Given the description of an element on the screen output the (x, y) to click on. 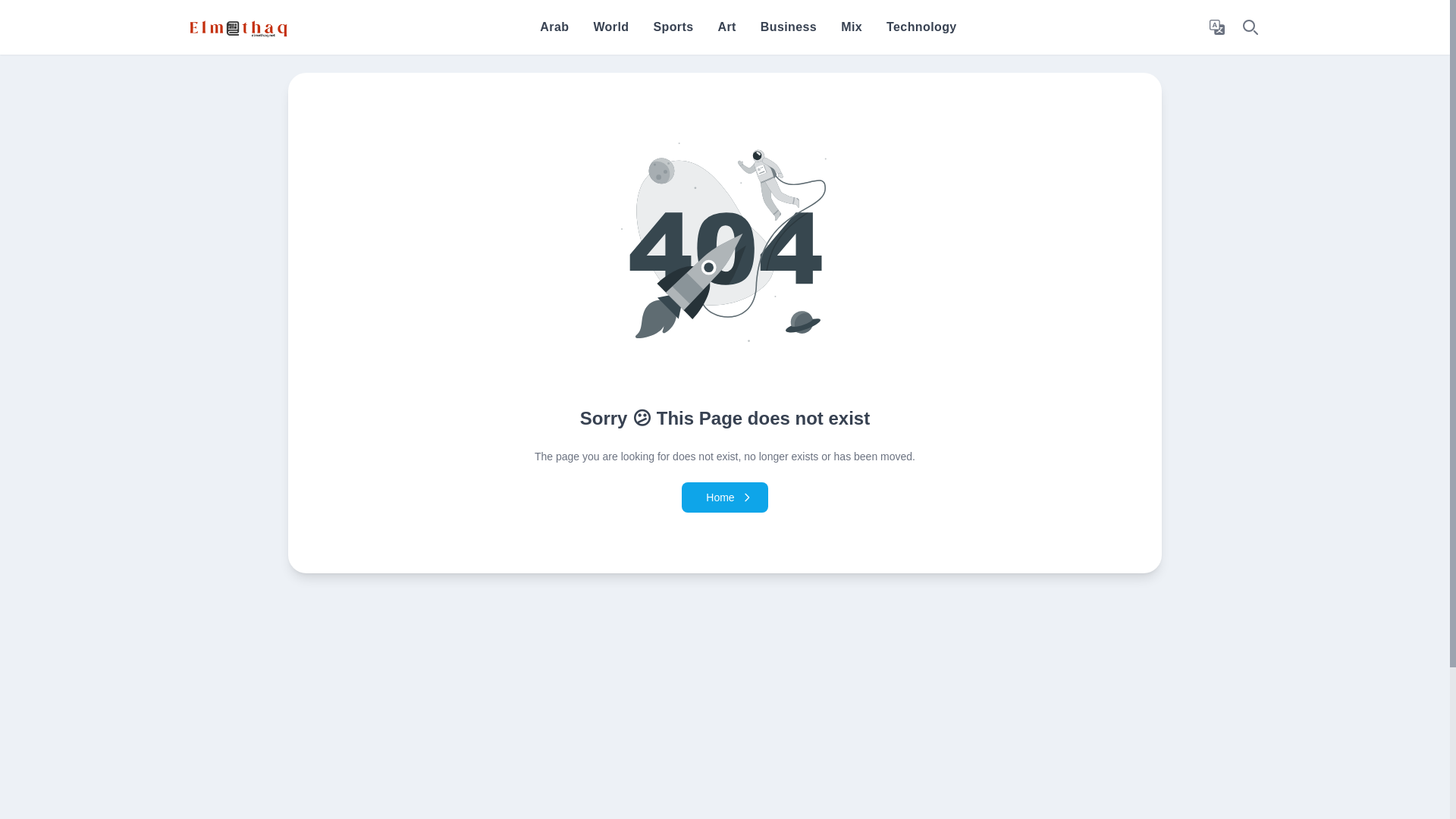
Sports (672, 27)
Mix (851, 27)
World (610, 27)
Art (726, 27)
Arab (554, 27)
Business (788, 27)
Technology (921, 27)
Home (724, 497)
